Given the description of an element on the screen output the (x, y) to click on. 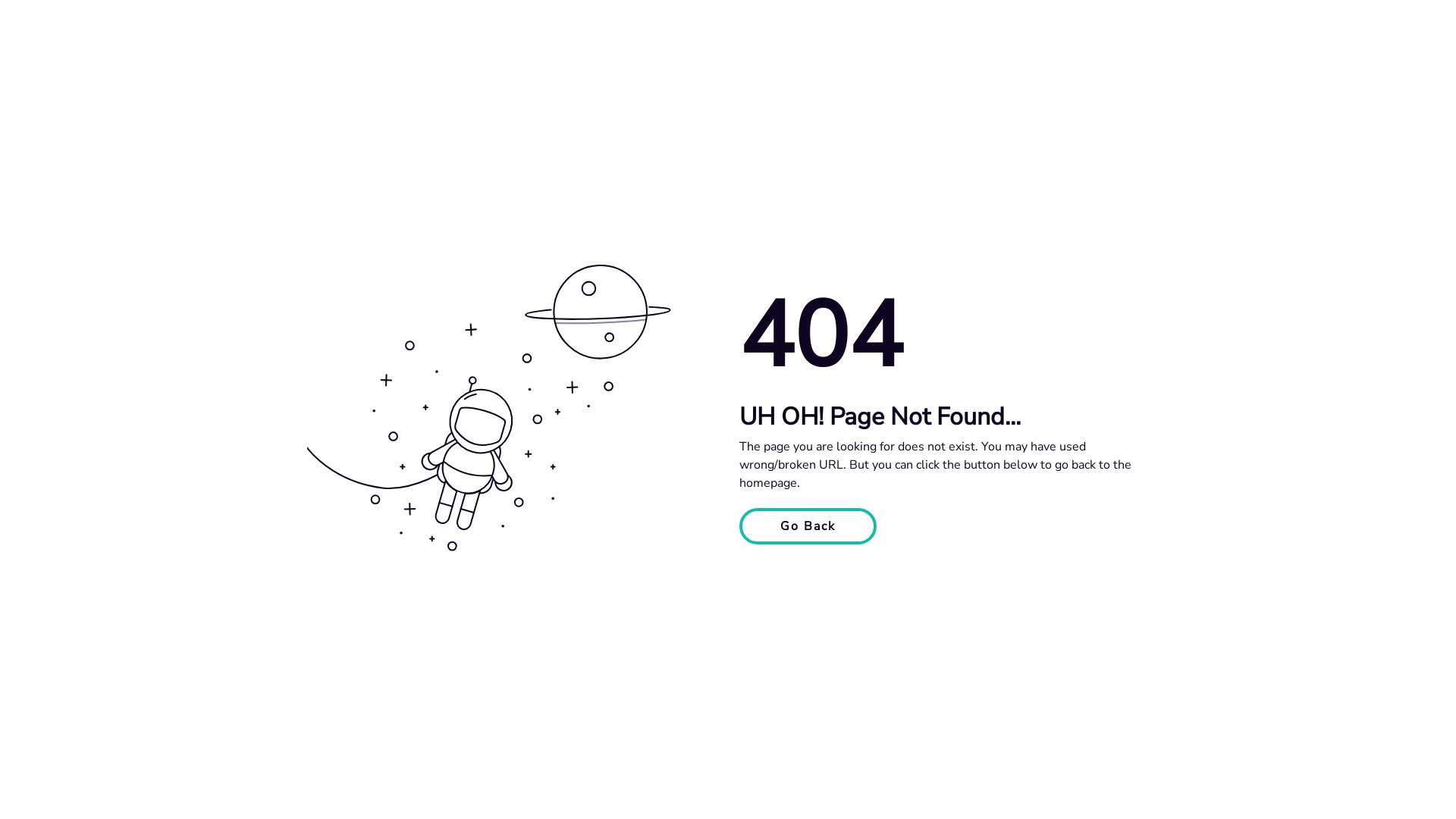
Go Back Element type: text (807, 526)
